Given the description of an element on the screen output the (x, y) to click on. 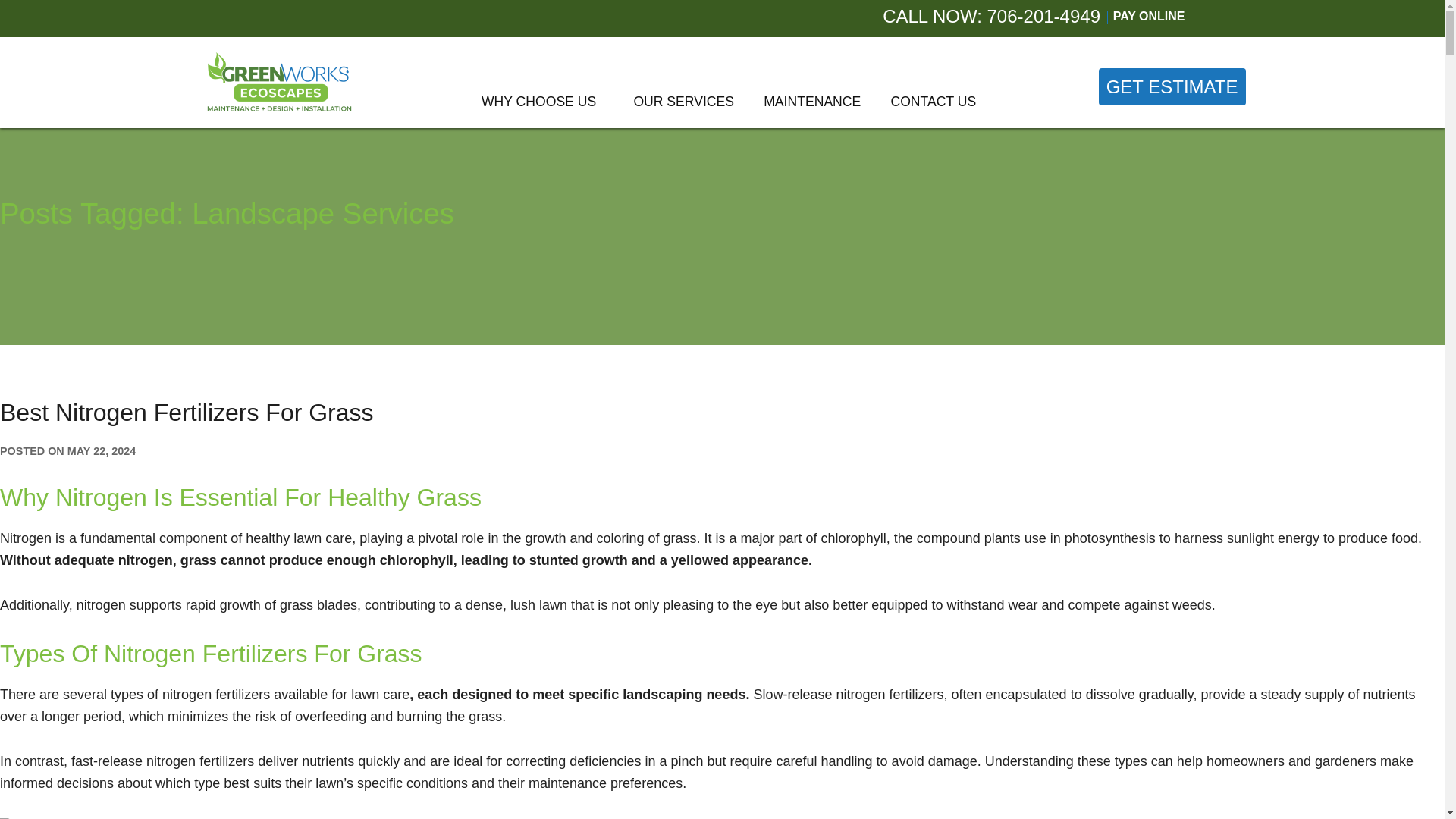
Why Choose Greenworks Ecoscapes (537, 101)
Residential Landscaping Services in Athens, GA (520, 140)
